Given the description of an element on the screen output the (x, y) to click on. 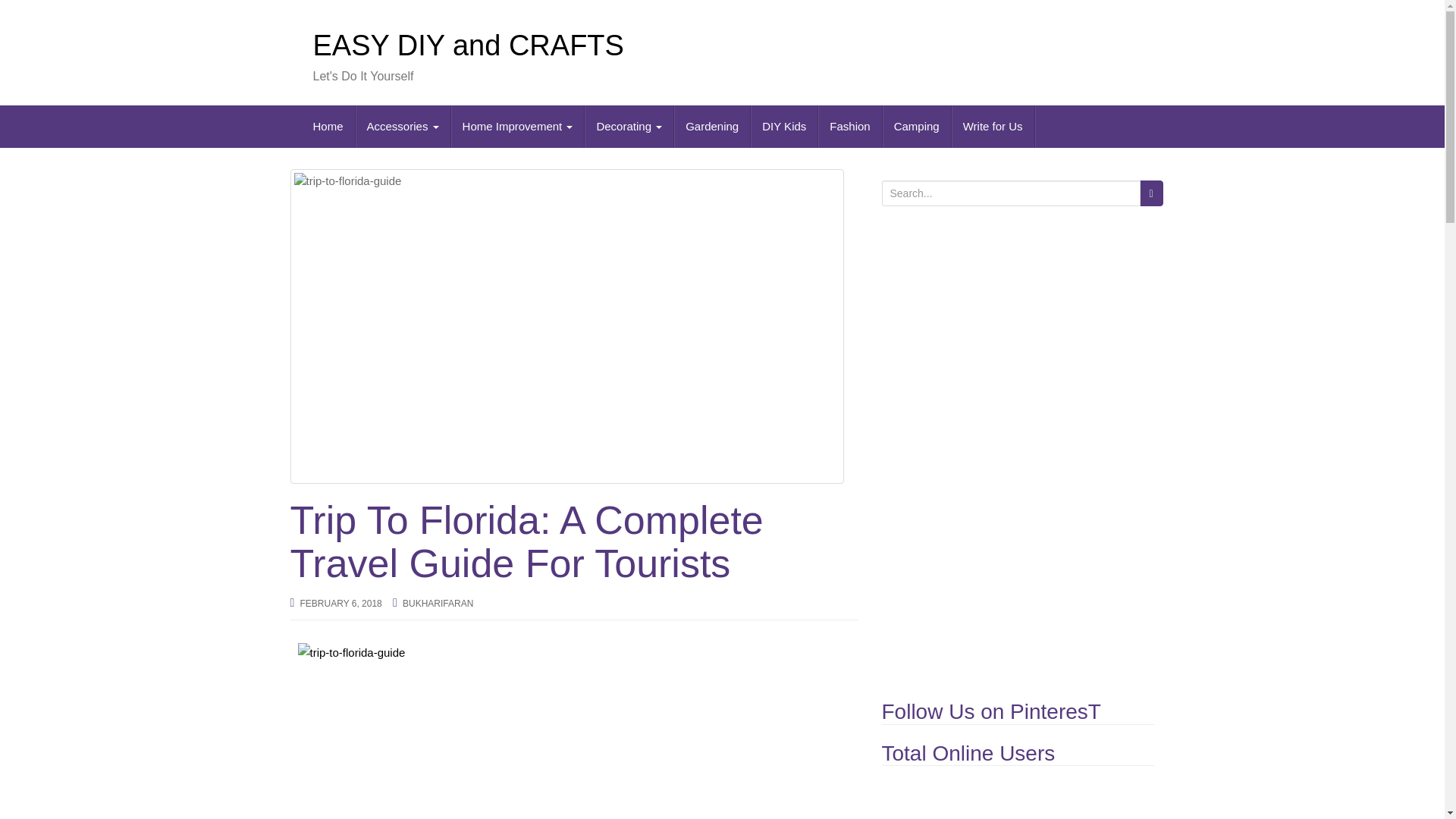
Camping (917, 126)
EASY DIY and CRAFTS (468, 45)
DIY Kids (784, 126)
Camping (917, 126)
Gardening (712, 126)
Write for Us (993, 126)
BUKHARIFARAN (438, 603)
Gardening (712, 126)
Decorating (629, 126)
Decorating (629, 126)
